Given the description of an element on the screen output the (x, y) to click on. 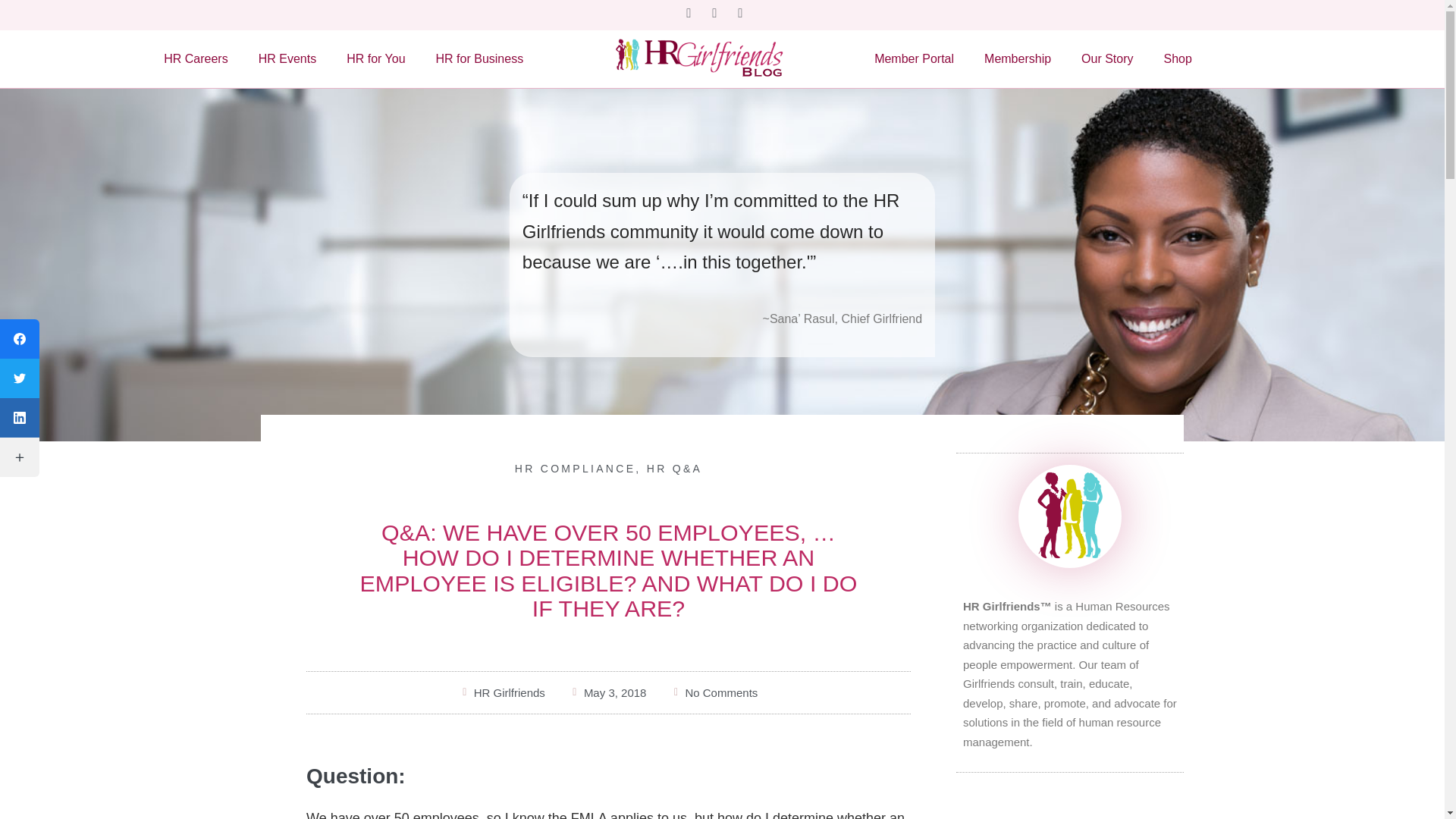
HR for Business (479, 58)
HR Events (287, 58)
HR Careers (195, 58)
HR for You (375, 58)
